Given the description of an element on the screen output the (x, y) to click on. 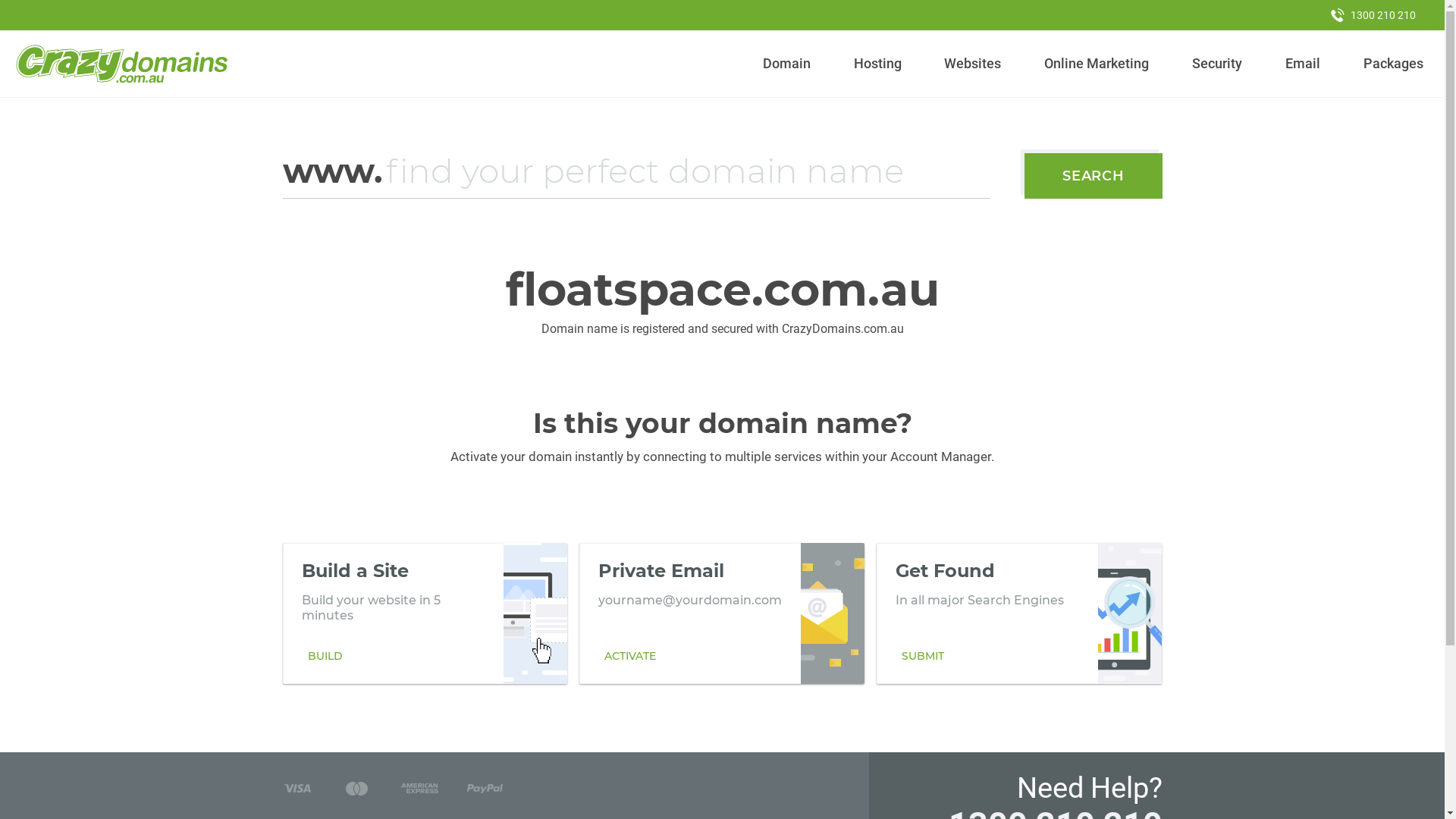
Websites Element type: text (972, 63)
Hosting Element type: text (877, 63)
Online Marketing Element type: text (1096, 63)
Private Email
yourname@yourdomain.com
ACTIVATE Element type: text (721, 613)
Build a Site
Build your website in 5 minutes
BUILD Element type: text (424, 613)
SEARCH Element type: text (1092, 175)
1300 210 210 Element type: text (1373, 15)
Packages Element type: text (1392, 63)
Email Element type: text (1302, 63)
Domain Element type: text (786, 63)
Security Element type: text (1217, 63)
Get Found
In all major Search Engines
SUBMIT Element type: text (1018, 613)
